Given the description of an element on the screen output the (x, y) to click on. 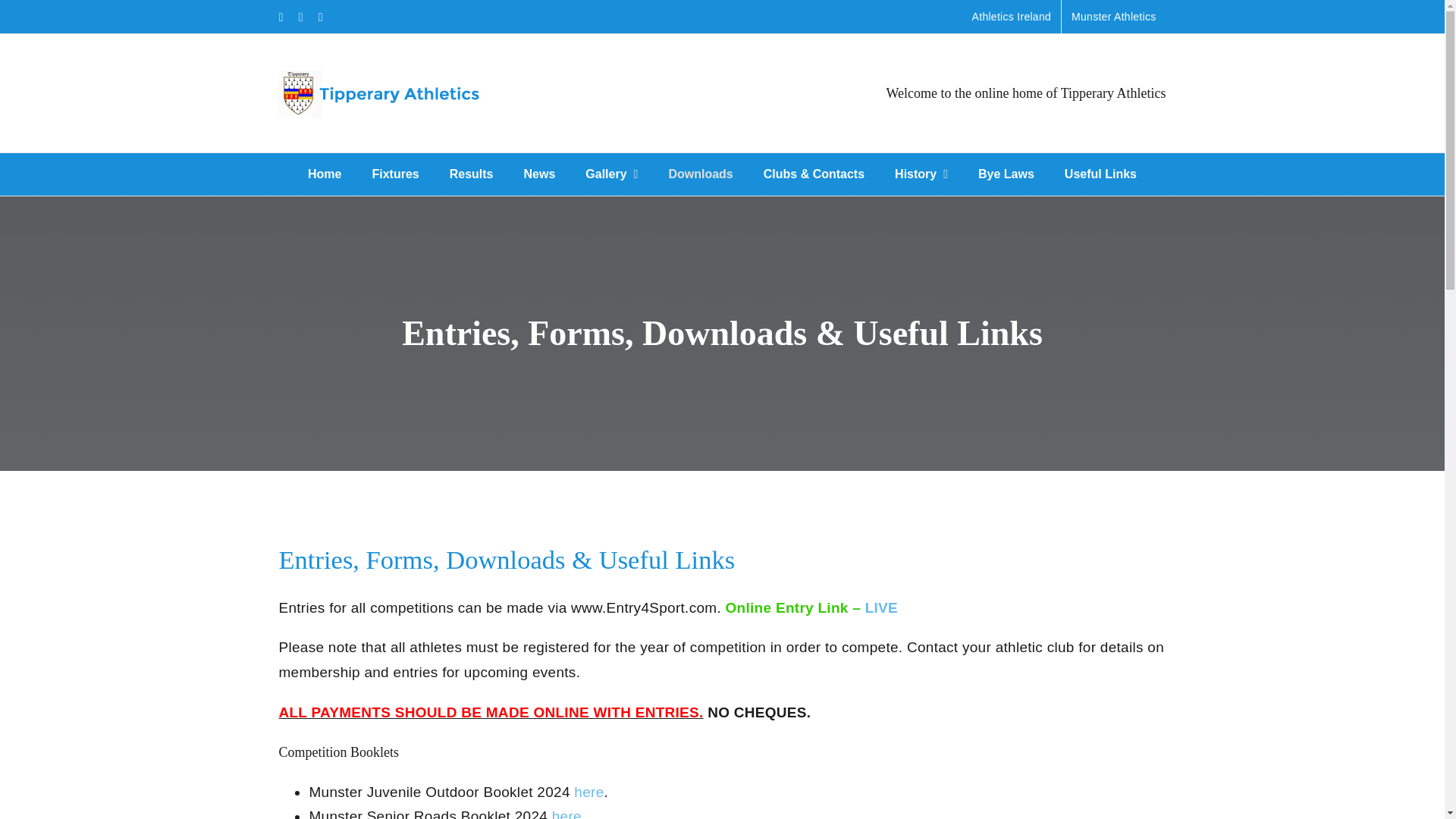
Gallery (611, 174)
History (921, 174)
Downloads (700, 174)
Munster Athletics (1113, 16)
Athletics Ireland (1011, 16)
Bye Laws (1005, 174)
Results (471, 174)
Fixtures (395, 174)
Useful Links (1100, 174)
